Given the description of an element on the screen output the (x, y) to click on. 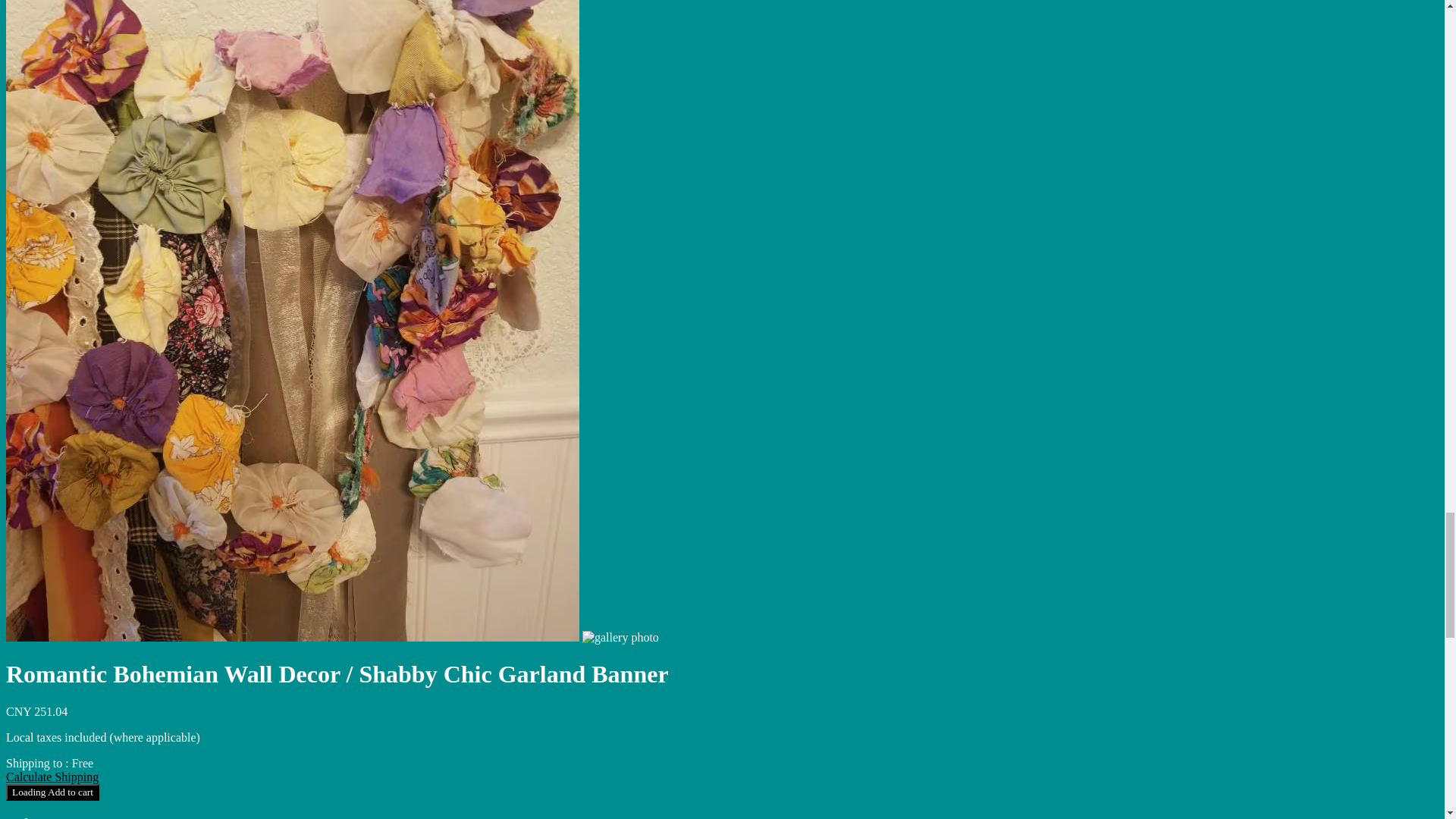
Calculate Shipping (52, 776)
Loading Add to cart (52, 791)
